Given the description of an element on the screen output the (x, y) to click on. 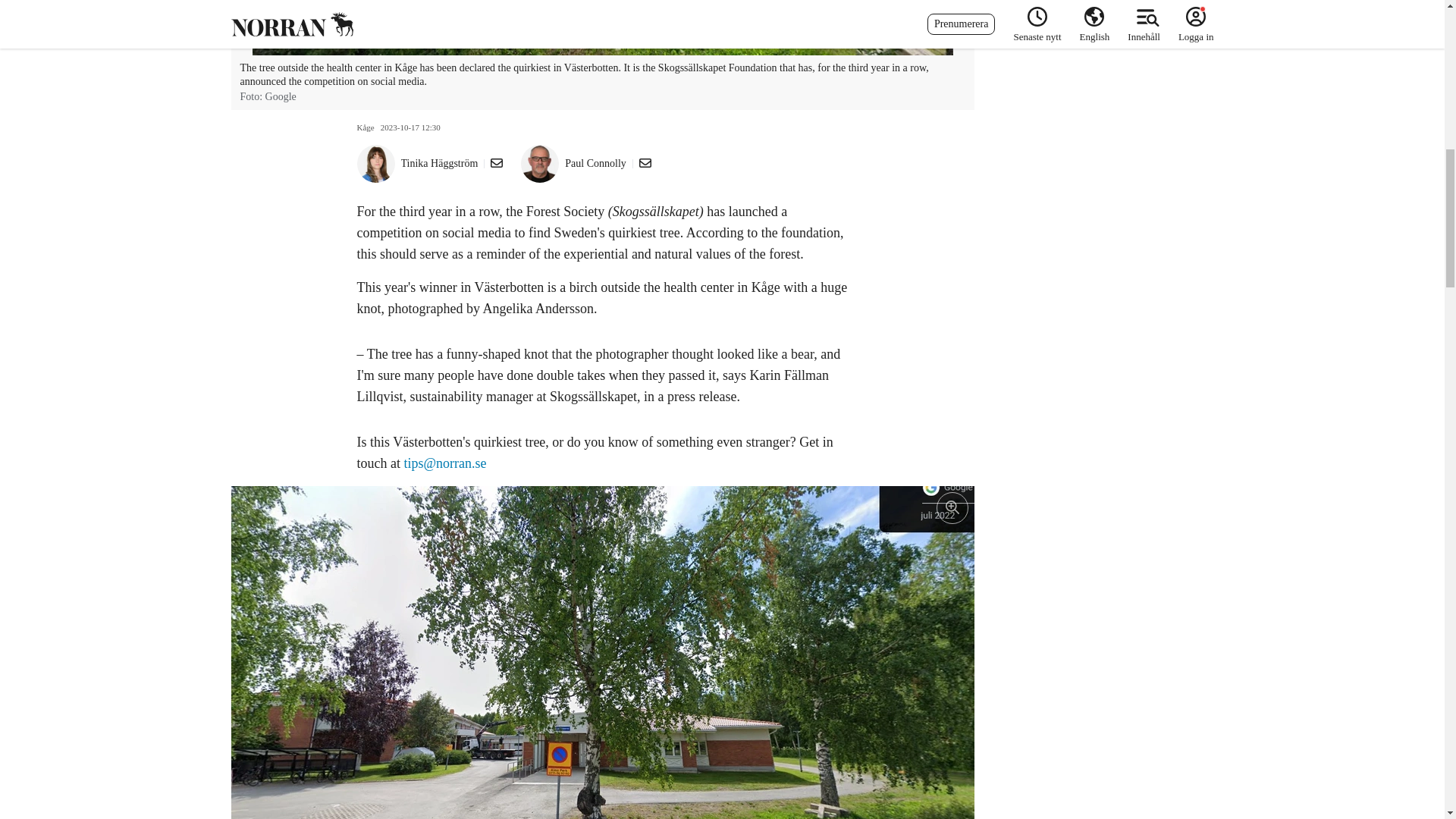
Visa fler artiklar av Paul Connolly (595, 163)
Paul Connolly (595, 163)
